Given the description of an element on the screen output the (x, y) to click on. 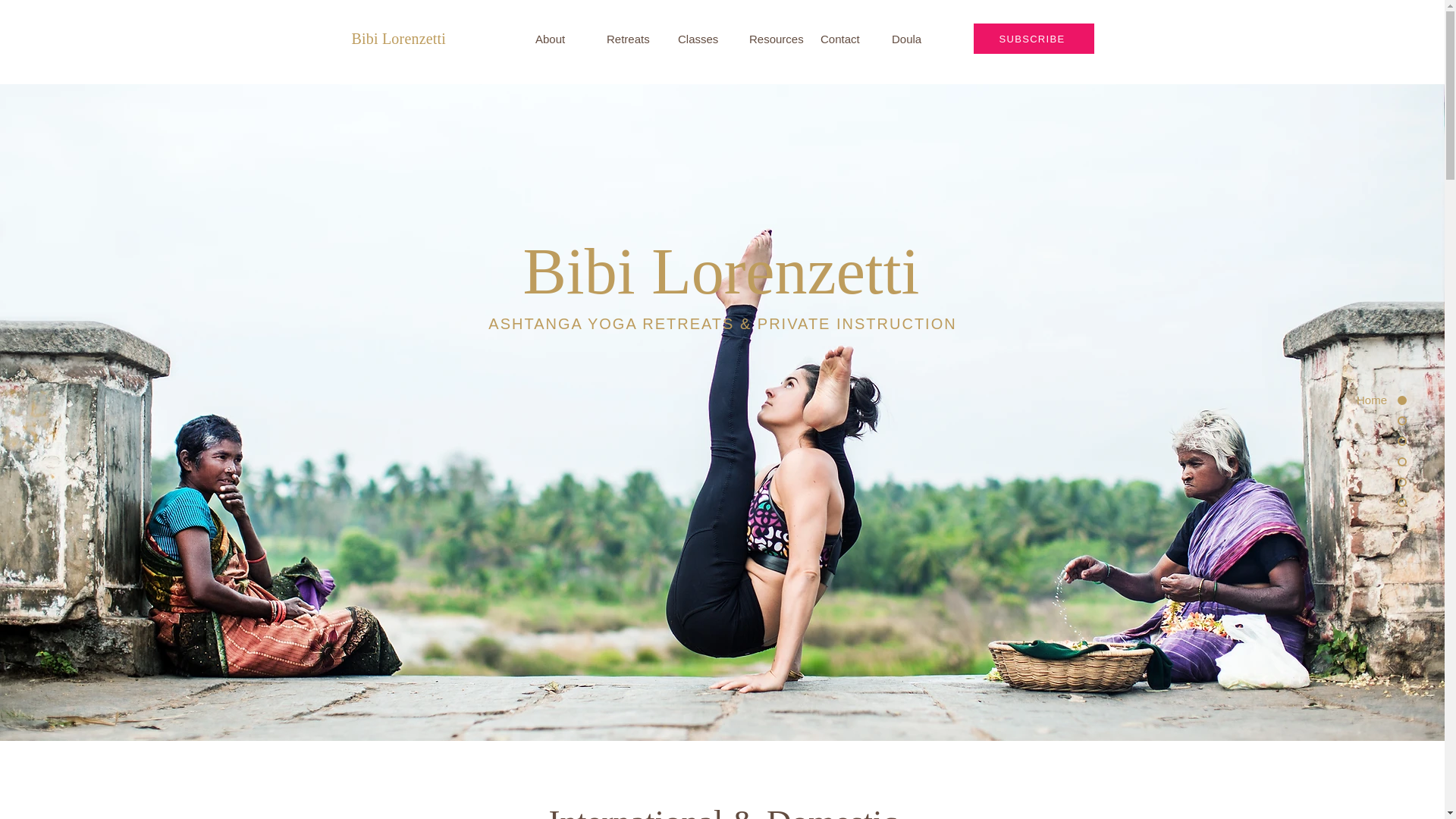
Resources (773, 39)
Home (1345, 399)
Doula (916, 39)
Contact (844, 39)
Retreats (630, 39)
Bibi Lorenzetti (399, 38)
About (559, 39)
SUBSCRIBE (1034, 38)
